Given the description of an element on the screen output the (x, y) to click on. 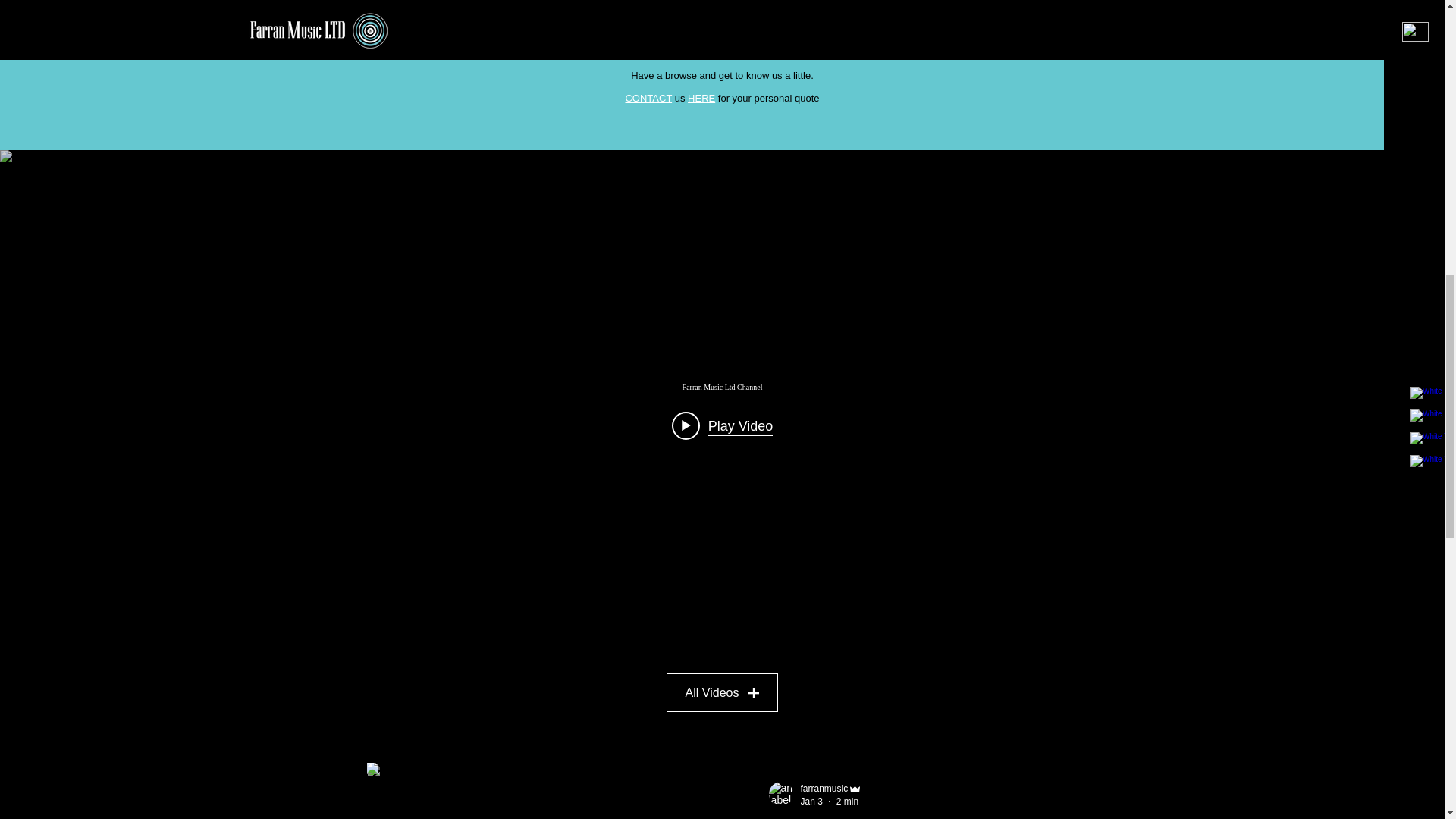
Jan 3 (811, 801)
HAPPY NUEVO 2024! (912, 817)
farranmusic (824, 787)
CONTACT (649, 98)
Play Video (722, 425)
2 min (847, 801)
farranmusic (831, 789)
Farran Music Ltd Channel (721, 387)
All Videos (722, 692)
HERE (700, 98)
